Given the description of an element on the screen output the (x, y) to click on. 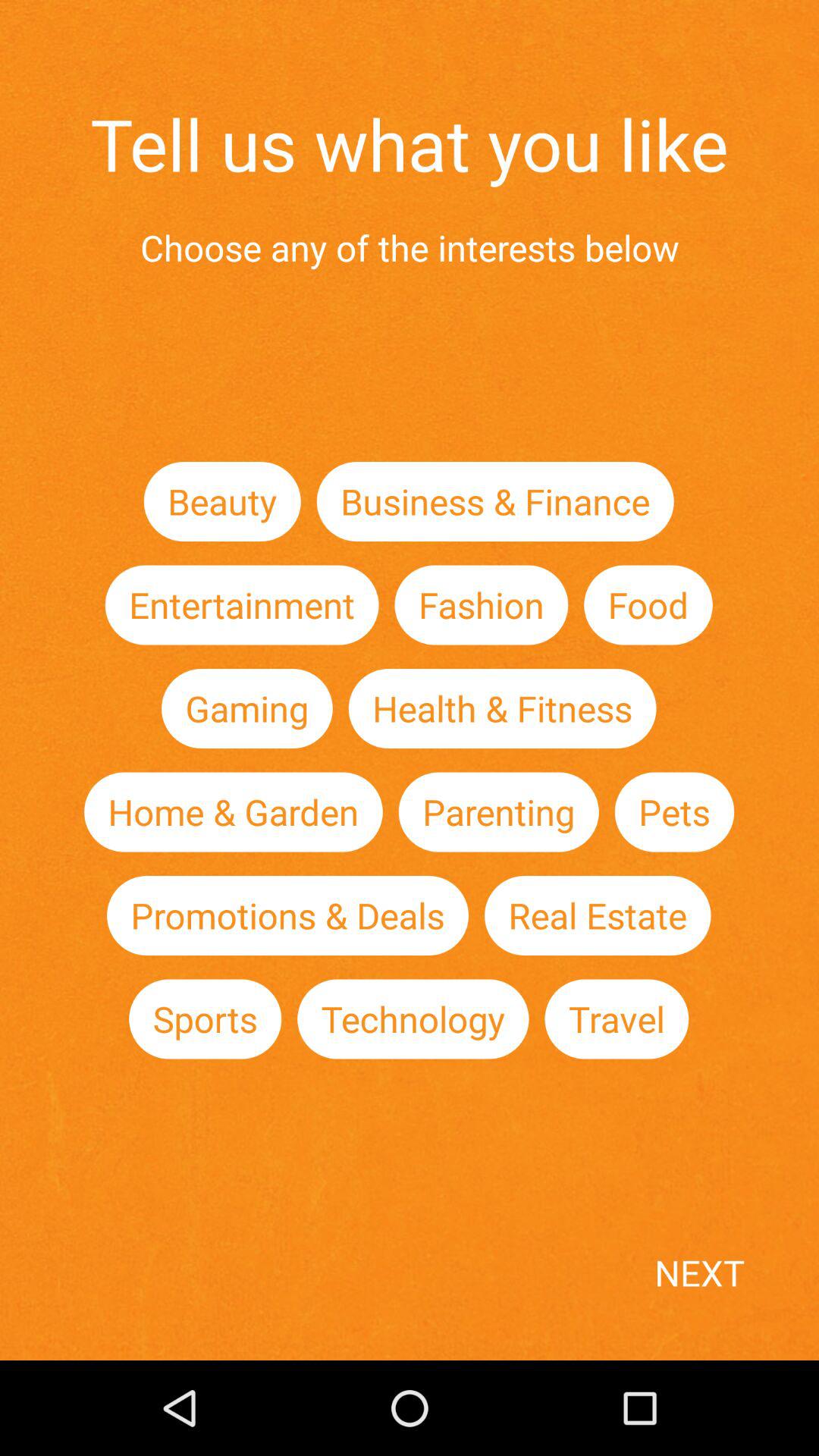
select the real estate item (597, 915)
